Given the description of an element on the screen output the (x, y) to click on. 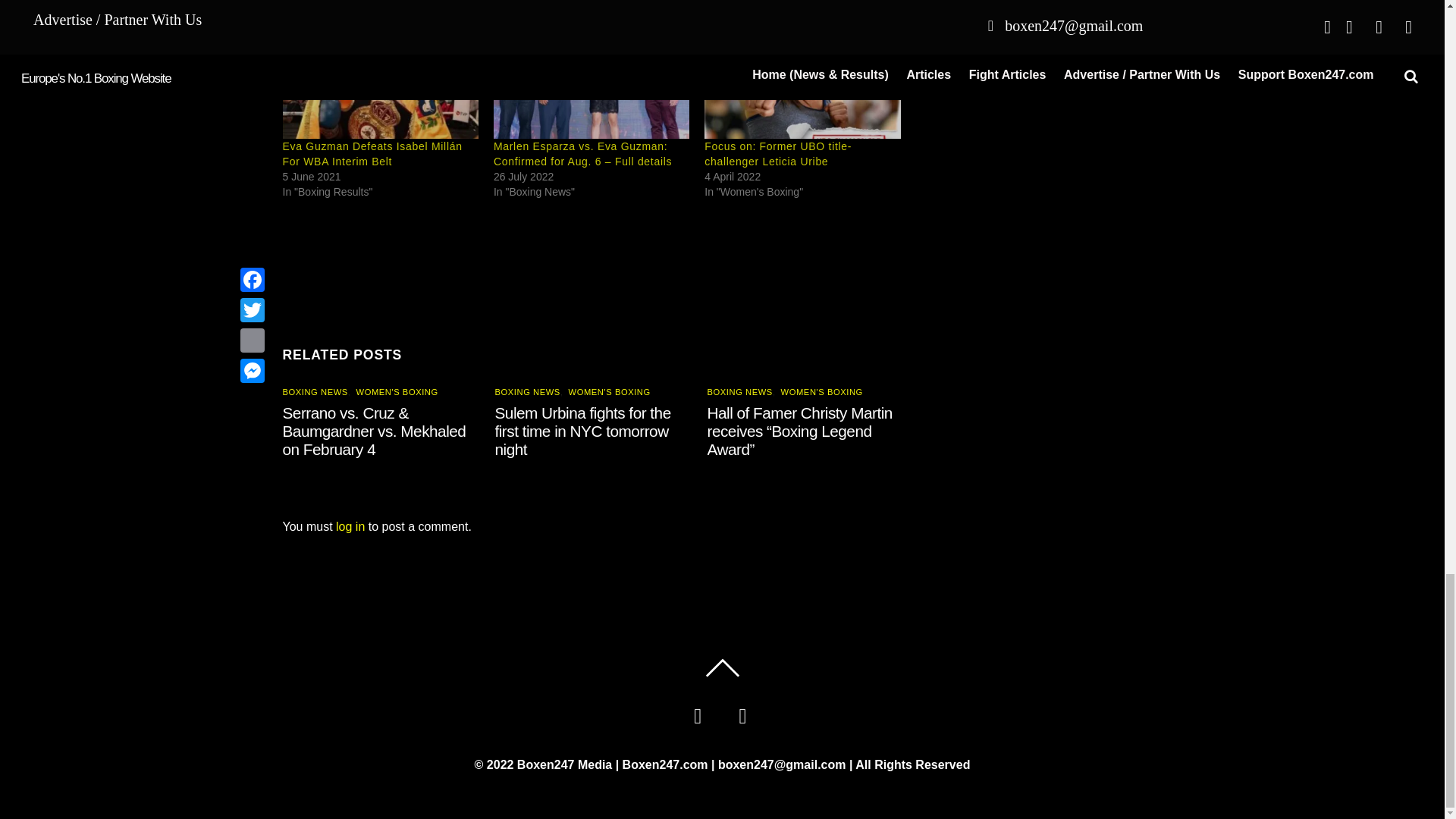
Sulem Urbina fights for the first time in NYC tomorrow night (583, 430)
Focus on: Former UBO title-challenger Leticia Uribe (801, 82)
Focus on: Former UBO title-challenger Leticia Uribe (777, 153)
